Given the description of an element on the screen output the (x, y) to click on. 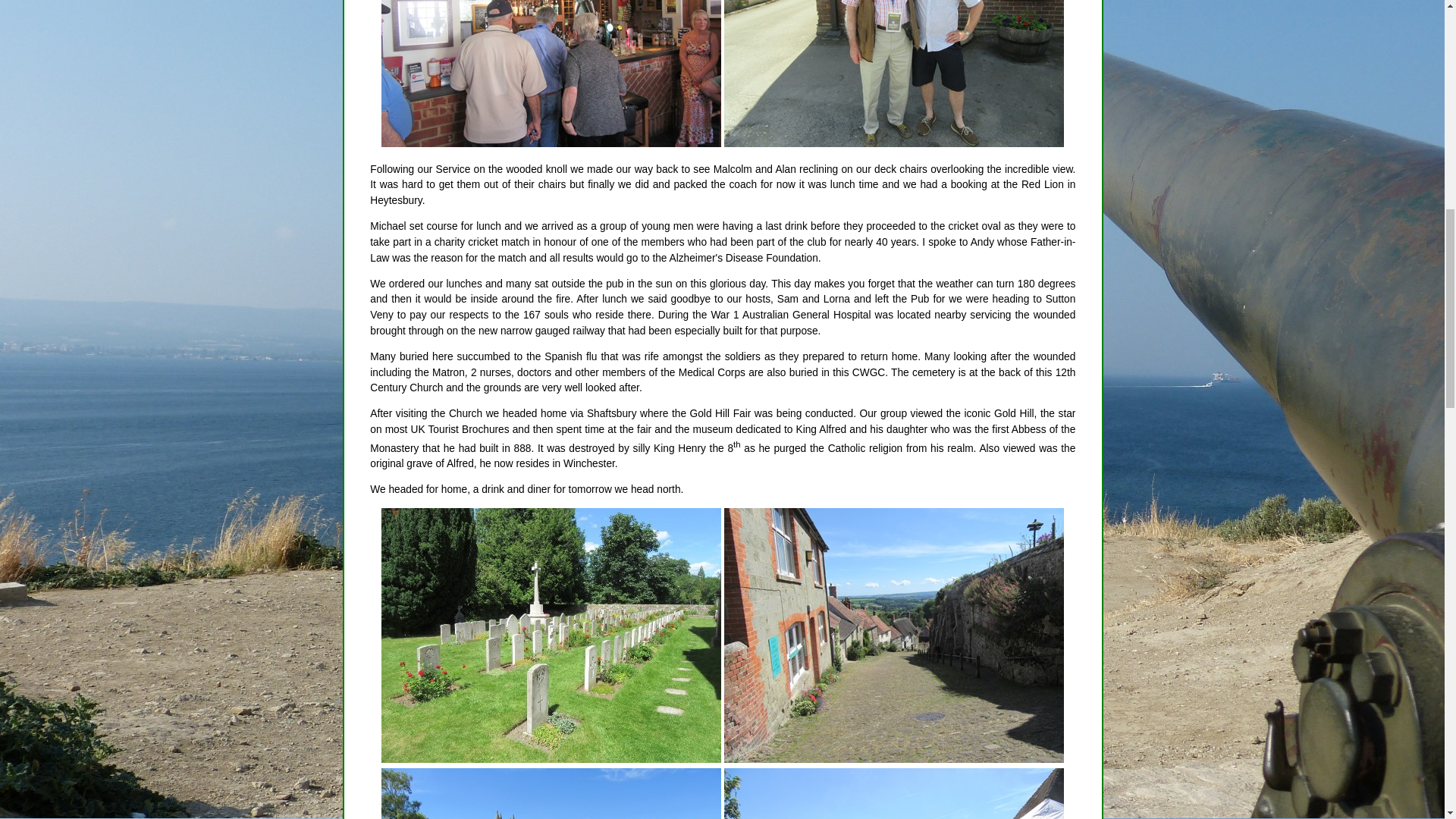
RAAF in the UK Tour 2017 (893, 793)
RAAF in the UK Tour 2017 (550, 793)
RAAF in the UK Tour 2017 (893, 634)
RAAF in the UK Tour 2017 (550, 73)
RAAF in the UK Tour 2017 (550, 634)
RAAF in the UK Tour 2017 (893, 73)
